Given the description of an element on the screen output the (x, y) to click on. 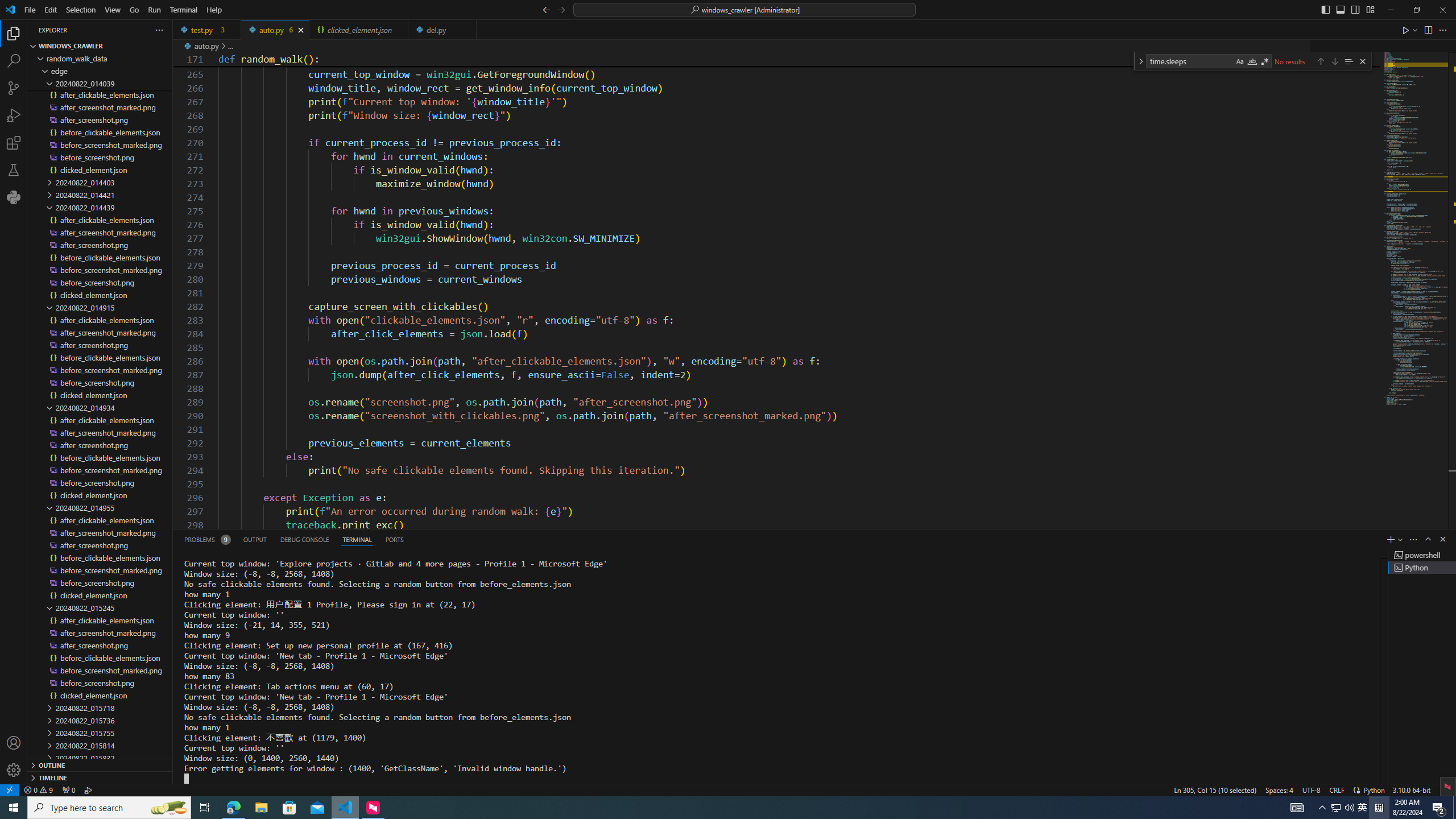
Toggle Panel (Ctrl+J) (1339, 9)
Ports (394, 539)
Hide Panel (1442, 539)
Terminal 1 powershell (1422, 554)
Maximize Panel Size (1428, 539)
Explorer actions (118, 29)
Source Control (Ctrl+Shift+G) (13, 87)
UTF-8 (1310, 789)
Match Case (Alt+C) (1239, 61)
Go Forward (Alt+RightArrow) (560, 9)
Outline Section (99, 764)
Close (Ctrl+F4) (468, 29)
